Given the description of an element on the screen output the (x, y) to click on. 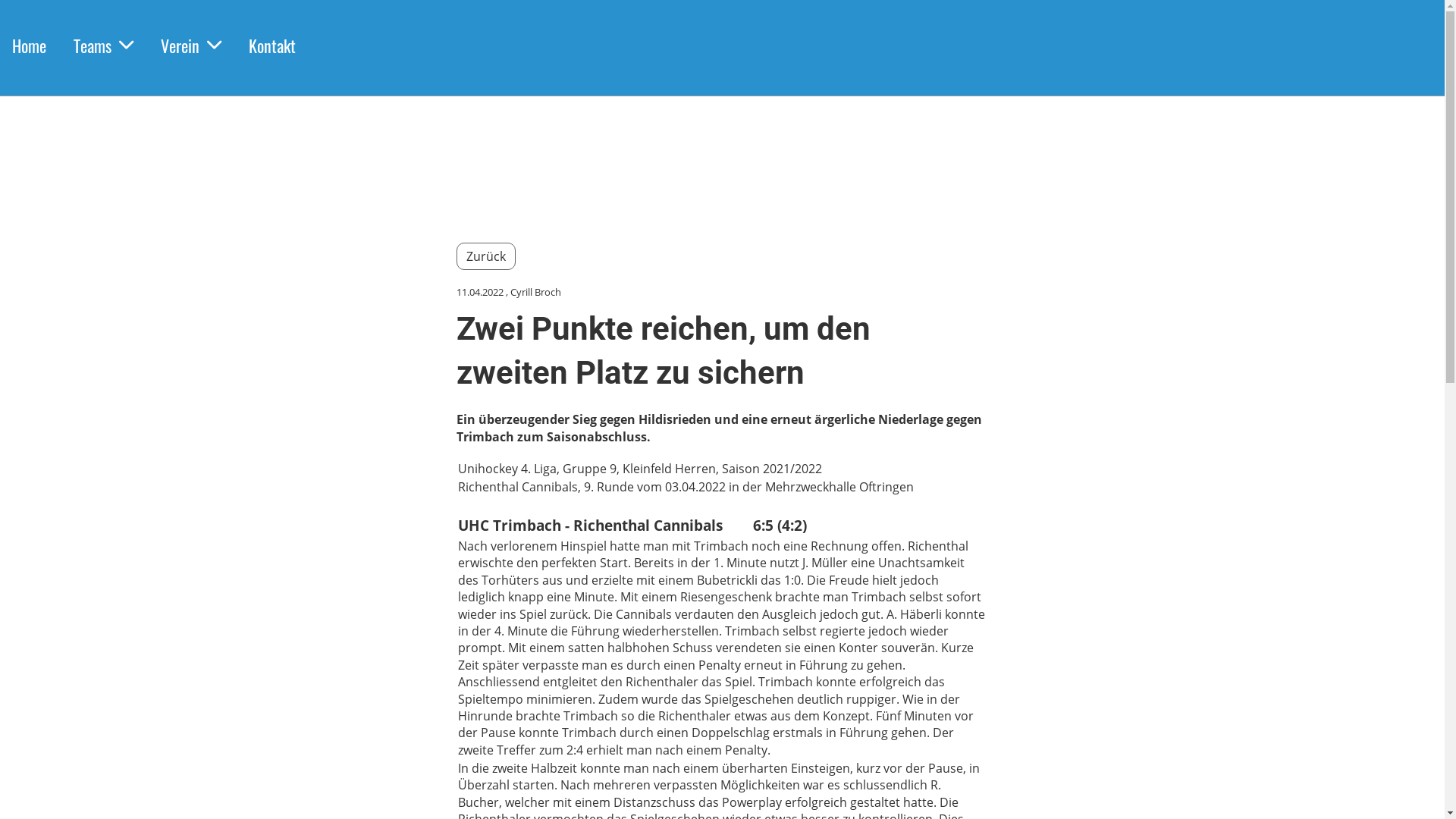
Teams Element type: text (103, 45)
Home Element type: text (29, 45)
Kontakt Element type: text (271, 45)
Verein Element type: text (190, 45)
